Given the description of an element on the screen output the (x, y) to click on. 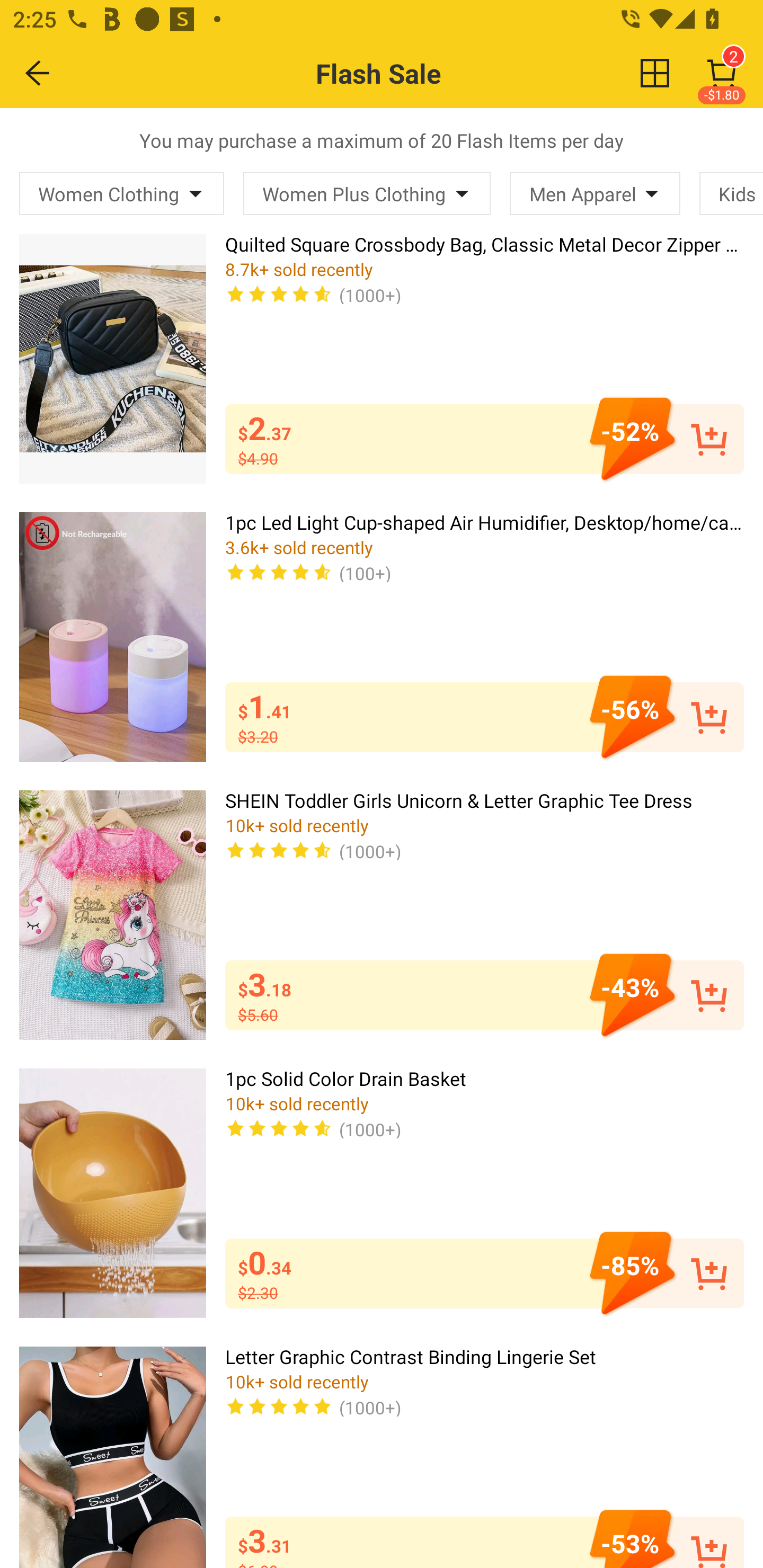
Flash Sale change view 2 -$1.80 (419, 72)
2 -$1.80 (721, 72)
change view (654, 72)
BACK (38, 72)
Women Clothing (121, 193)
Women Plus Clothing (366, 193)
Men Apparel (594, 193)
Kids (731, 193)
1pc Solid Color Drain Basket (112, 1192)
Letter Graphic Contrast Binding Lingerie Set (112, 1457)
